Given the description of an element on the screen output the (x, y) to click on. 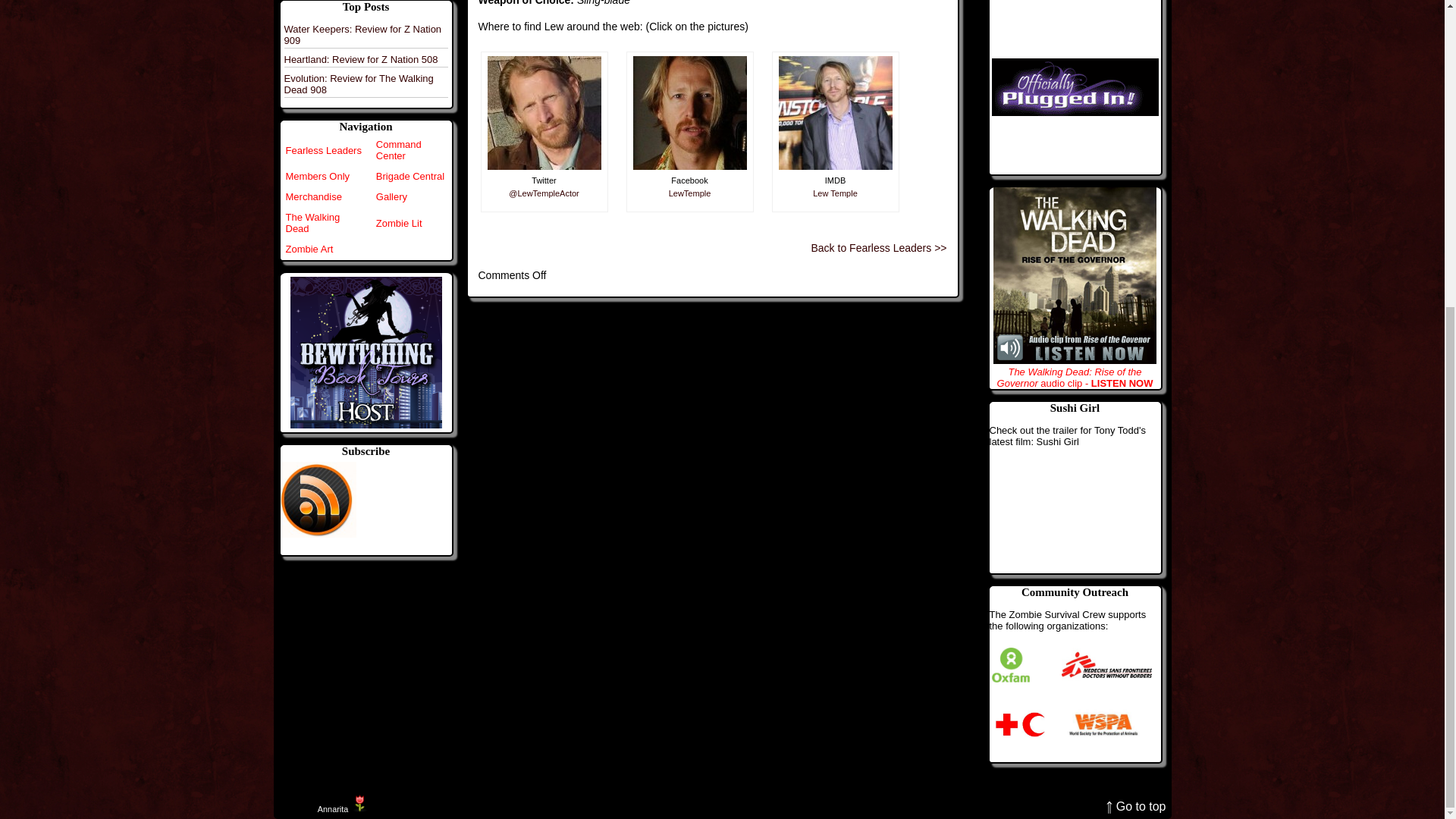
Command Center (398, 149)
The Walking Dead (312, 222)
RedCrossRedCrescent (1019, 724)
Oxfam1 (1010, 665)
Gallery (391, 196)
Zombie Lit (398, 223)
Heartland: Review for Z Nation 508 (360, 59)
Merchandise (312, 196)
Water Keepers: Review for Z Nation 909 (362, 34)
Members Only (317, 175)
Partners (1074, 86)
Fearless Leaders (323, 150)
Evolution: Review for The Walking Dead 908 (357, 83)
Brigade Central (409, 175)
Template Annarita (332, 809)
